Given the description of an element on the screen output the (x, y) to click on. 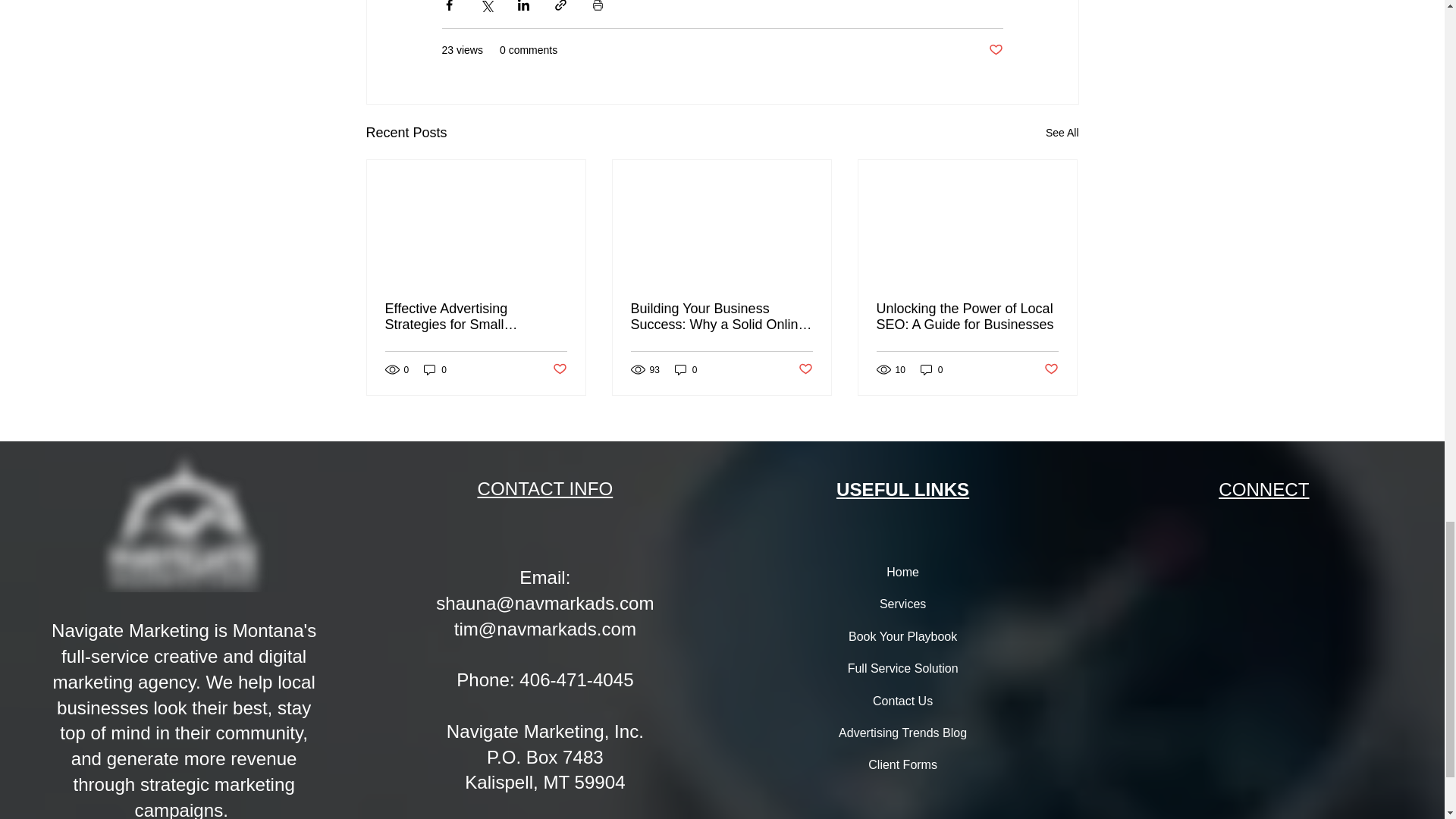
0 (435, 369)
Contact Us (902, 701)
0 (931, 369)
Post not marked as liked (558, 369)
Advertising Trends Blog (902, 733)
Full Service Solution (902, 668)
Post not marked as liked (804, 369)
0 (685, 369)
Book Your Playbook (902, 636)
Effective Advertising Strategies for Small Businesses (476, 316)
Post not marked as liked (1050, 369)
Post not marked as liked (995, 50)
See All (1061, 133)
Home (902, 572)
Unlocking the Power of Local SEO: A Guide for Businesses (967, 316)
